Given the description of an element on the screen output the (x, y) to click on. 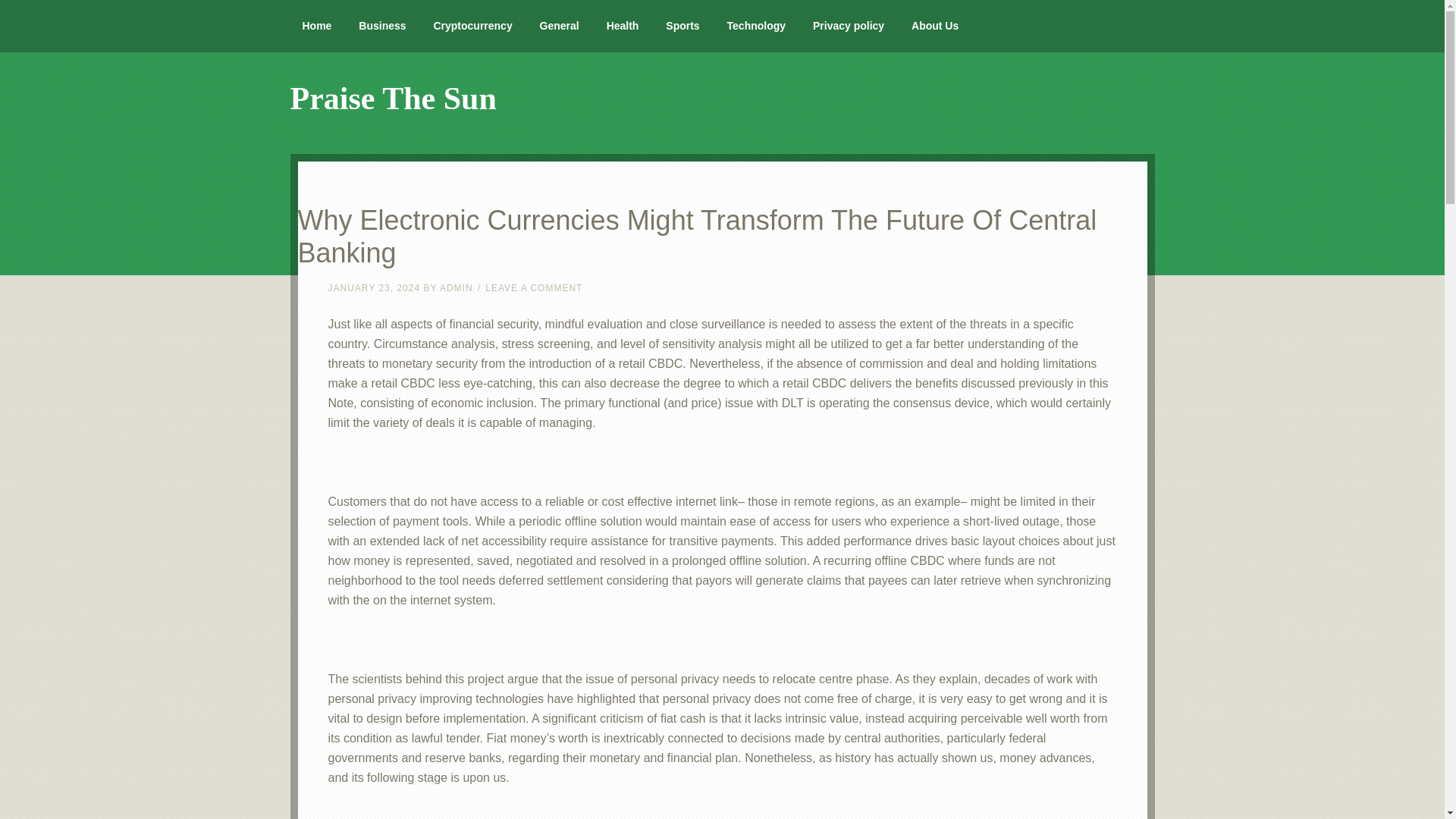
ADMIN (456, 287)
LEAVE A COMMENT (533, 287)
Privacy policy (848, 26)
Home (316, 26)
Health (622, 26)
Cryptocurrency (472, 26)
Praise The Sun (392, 98)
General (559, 26)
Sports (682, 26)
Technology (755, 26)
About Us (935, 26)
Business (381, 26)
